Given the description of an element on the screen output the (x, y) to click on. 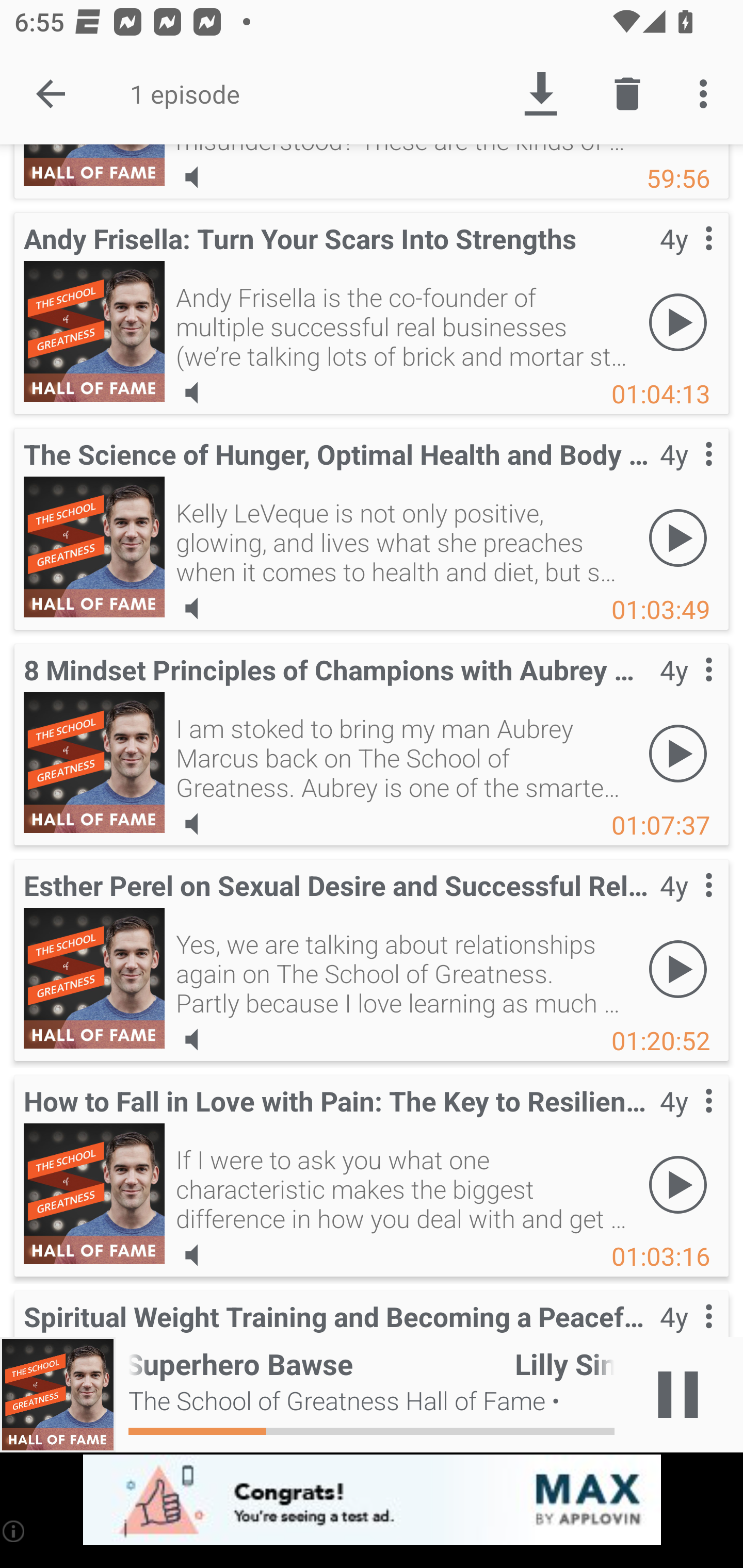
Done (50, 93)
Download (540, 93)
Delete episode (626, 93)
More options (706, 93)
Contextual menu (685, 258)
Andy Frisella: Turn Your Scars Into Strengths (93, 330)
Play (677, 322)
Contextual menu (685, 474)
Play (677, 537)
Contextual menu (685, 689)
Play (677, 753)
Contextual menu (685, 905)
Play (677, 968)
Contextual menu (685, 1120)
Play (677, 1184)
Play / Pause (677, 1394)
app-monetization (371, 1500)
(i) (14, 1531)
